Given the description of an element on the screen output the (x, y) to click on. 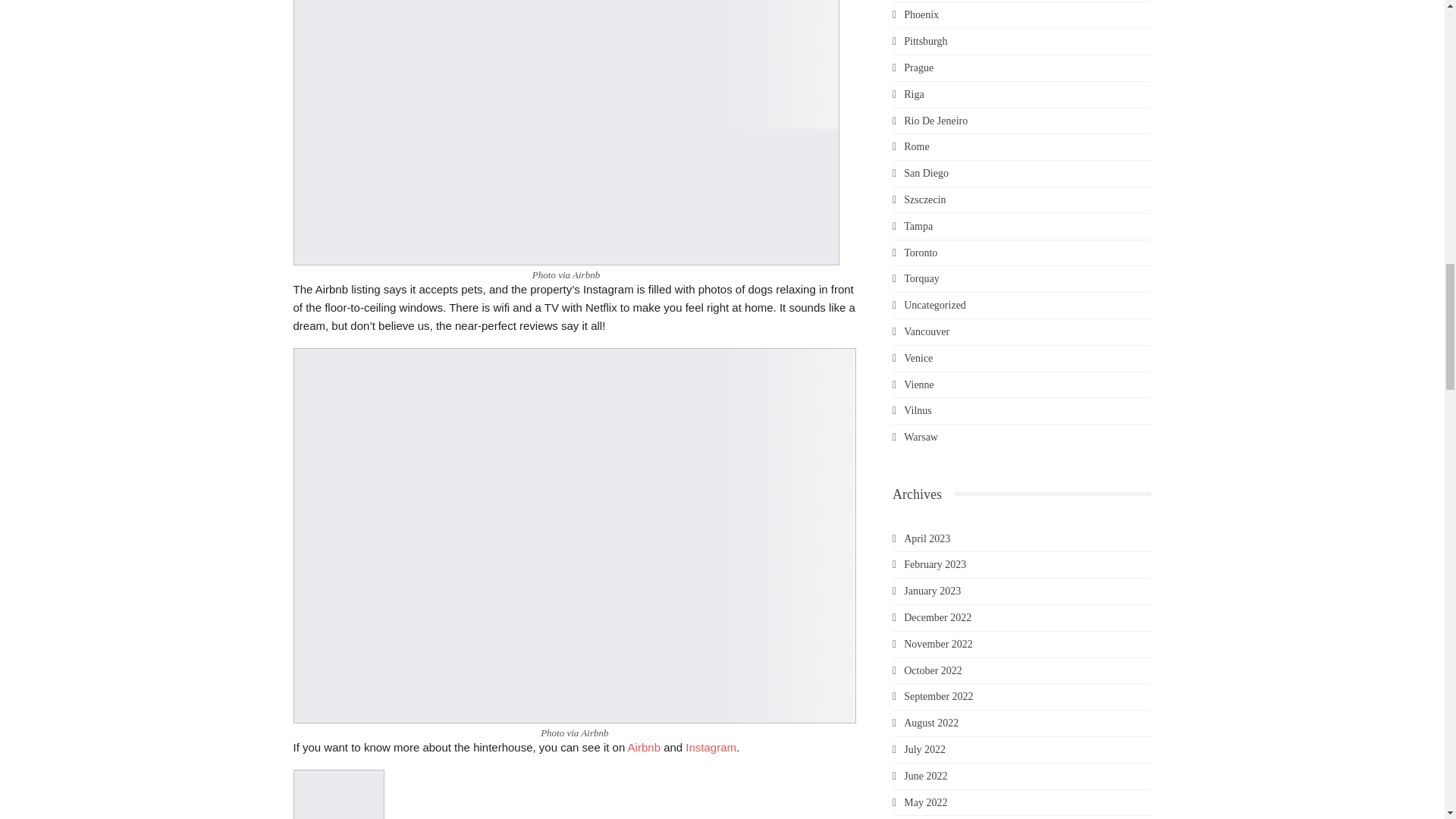
curiocity-author-image (338, 794)
Instagram (710, 747)
Airbnb (644, 747)
